Given the description of an element on the screen output the (x, y) to click on. 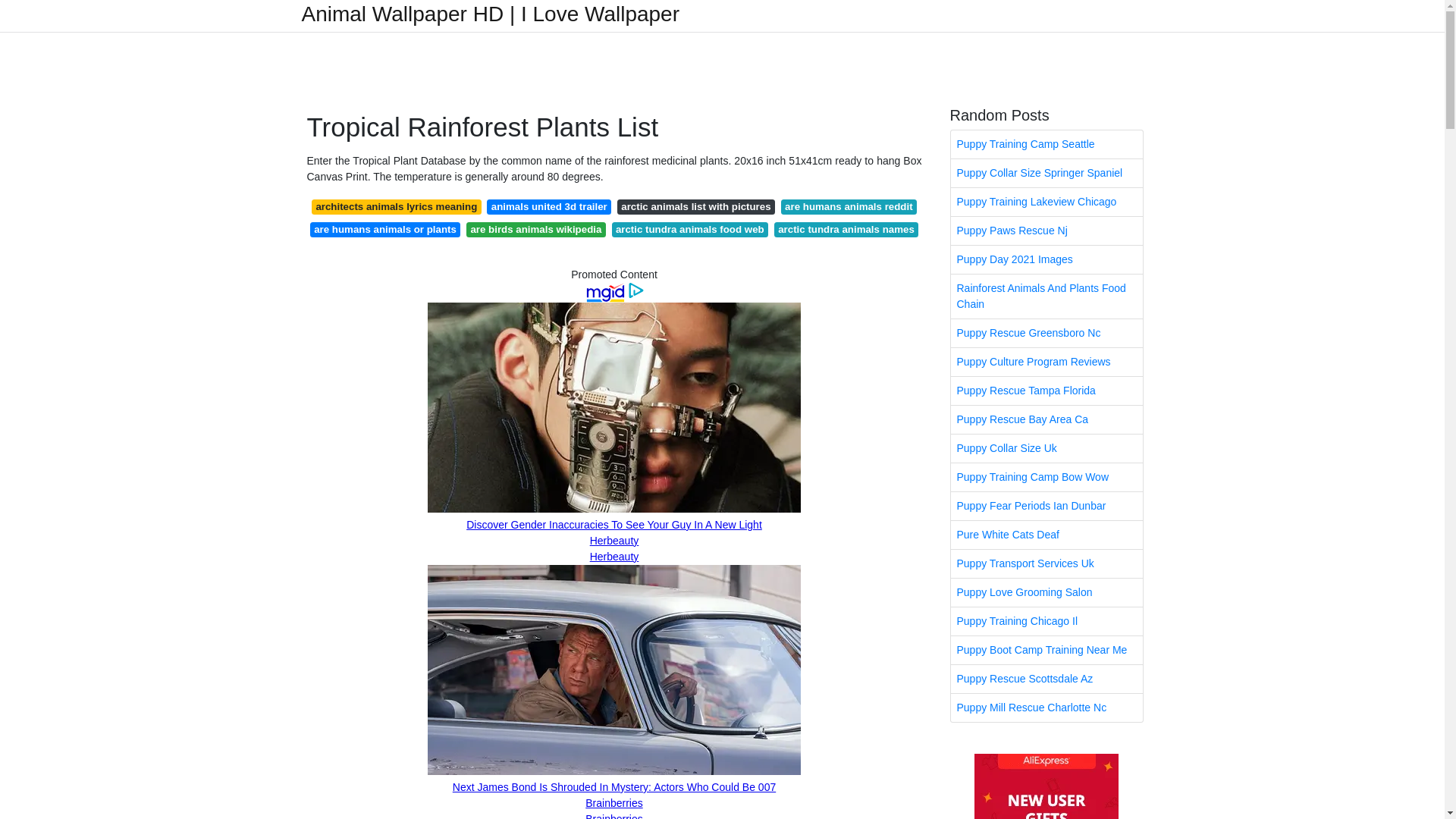
Puppy Rescue Bay Area Ca (1046, 419)
Puppy Rescue Greensboro Nc (1046, 333)
Puppy Collar Size Springer Spaniel (1046, 172)
arctic animals list with pictures (695, 206)
are humans animals reddit (848, 206)
architects animals lyrics meaning (395, 206)
arctic tundra animals names (846, 229)
arctic tundra animals food web (689, 229)
animals united 3d trailer (548, 206)
are birds animals wikipedia (535, 229)
Puppy Day 2021 Images (1046, 259)
Puppy Training Camp Seattle (1046, 144)
Puppy Paws Rescue Nj (1046, 230)
are humans animals or plants (385, 229)
Puppy Culture Program Reviews (1046, 361)
